Given the description of an element on the screen output the (x, y) to click on. 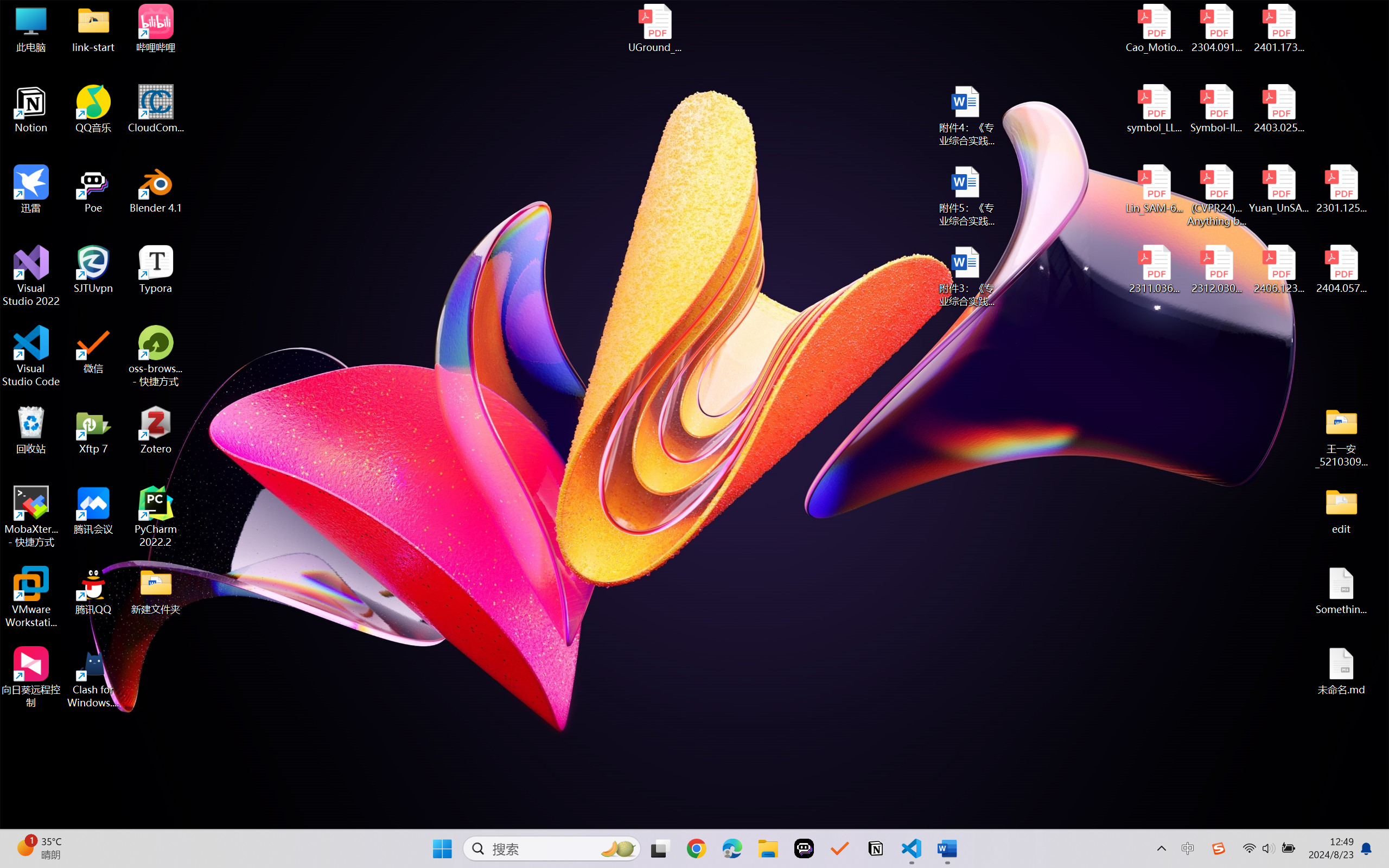
2406.12373v2.pdf (1278, 269)
2304.09121v3.pdf (1216, 28)
Typora (156, 269)
2301.12597v3.pdf (1340, 189)
